Given the description of an element on the screen output the (x, y) to click on. 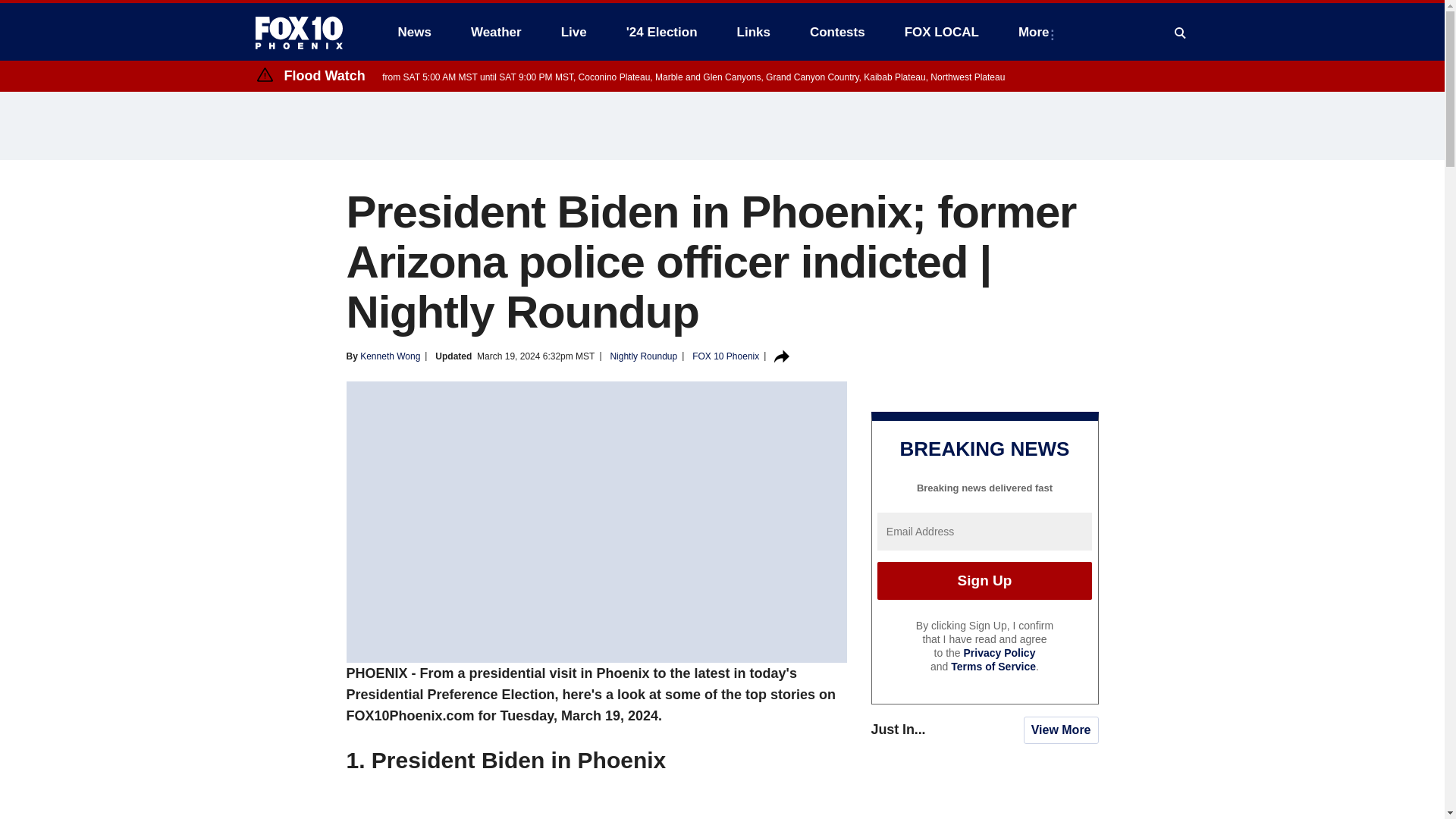
Live (573, 32)
Contests (837, 32)
News (413, 32)
Links (754, 32)
More (1036, 32)
Sign Up (984, 580)
'24 Election (662, 32)
Weather (496, 32)
FOX LOCAL (941, 32)
